Given the description of an element on the screen output the (x, y) to click on. 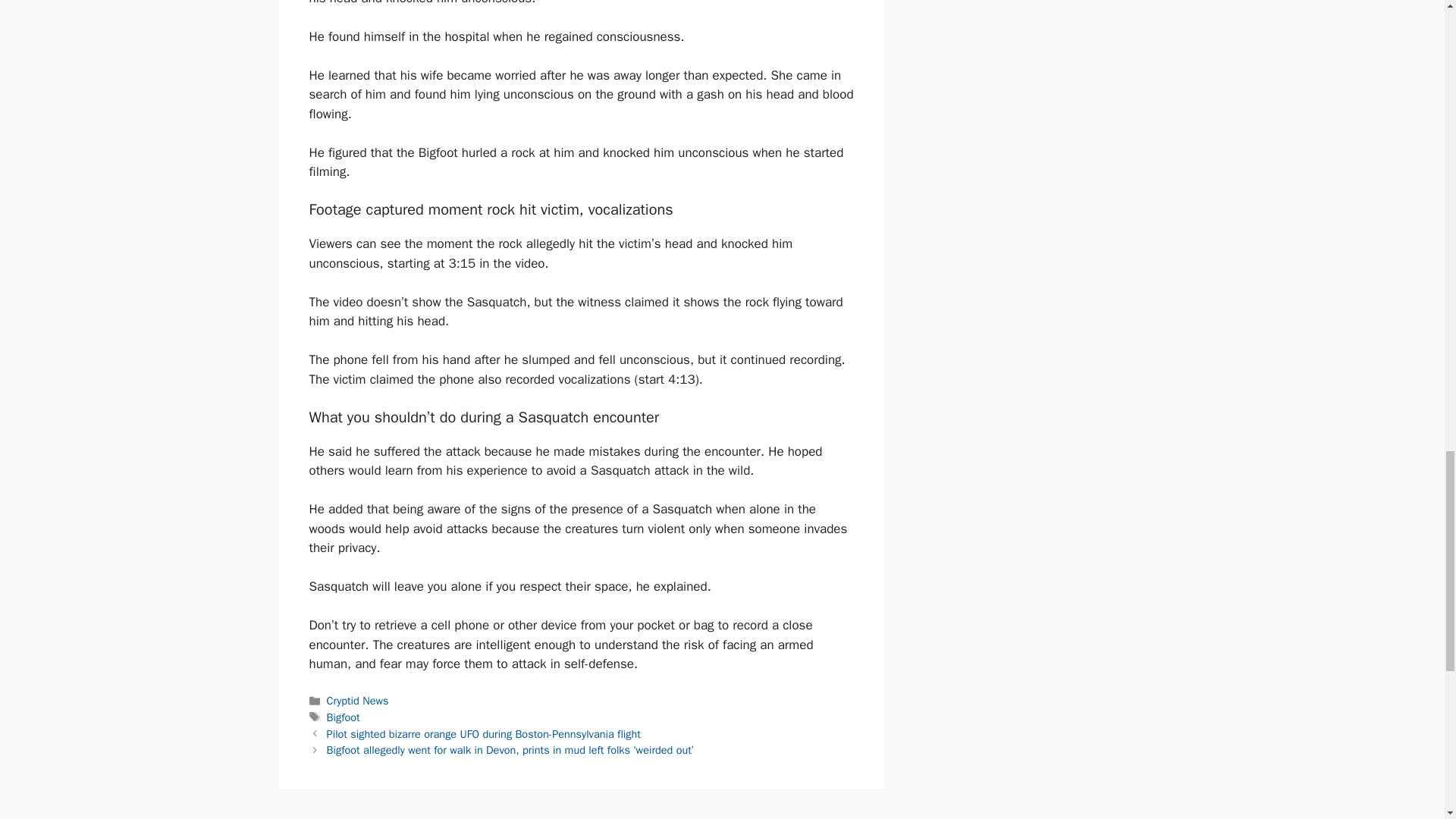
Cryptid News (357, 700)
Bigfoot (342, 716)
